Given the description of an element on the screen output the (x, y) to click on. 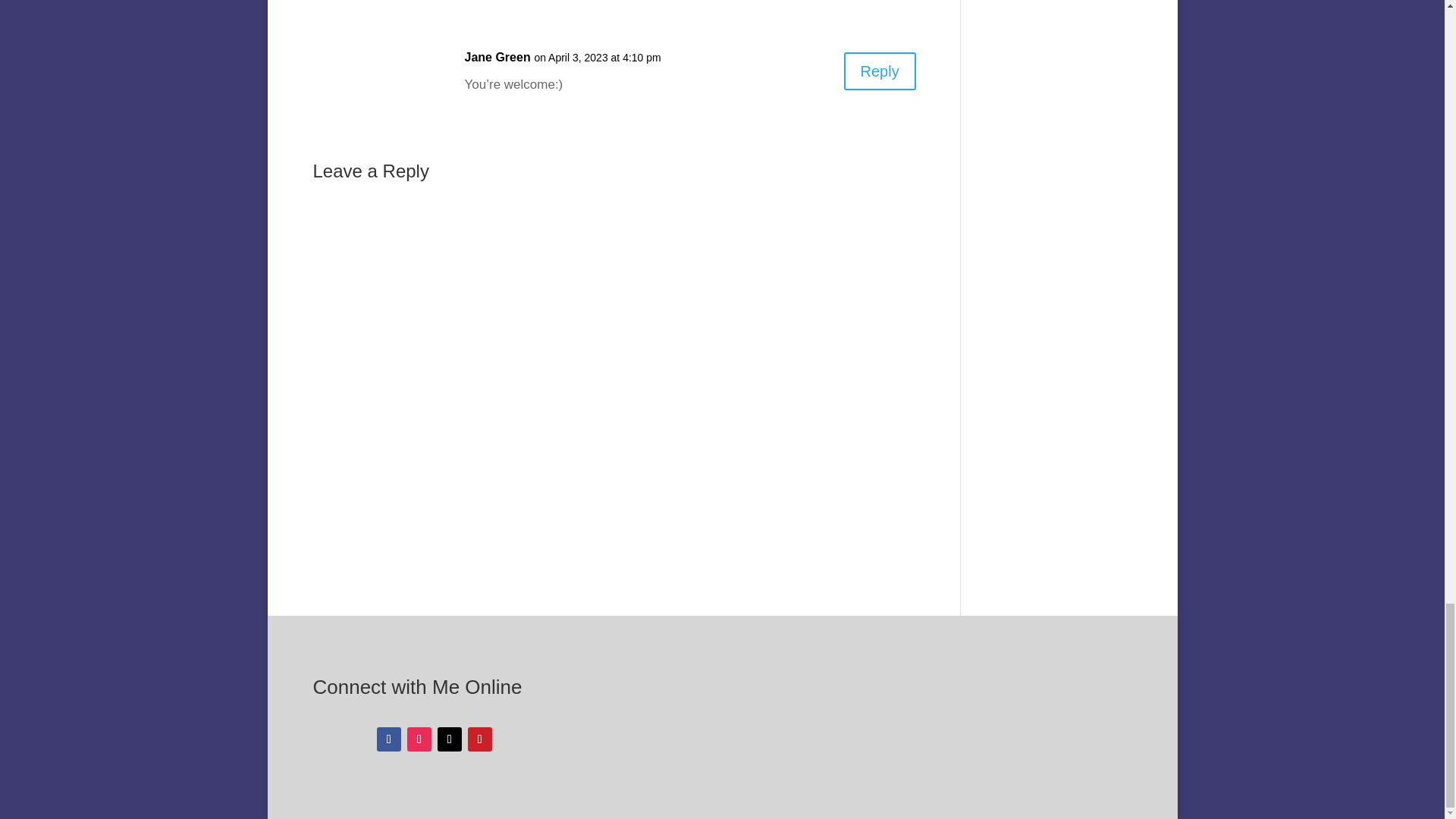
Follow on Instagram (418, 739)
Follow on X (449, 739)
Follow on Pinterest (479, 739)
Reply (879, 71)
Follow on Facebook (389, 739)
